Given the description of an element on the screen output the (x, y) to click on. 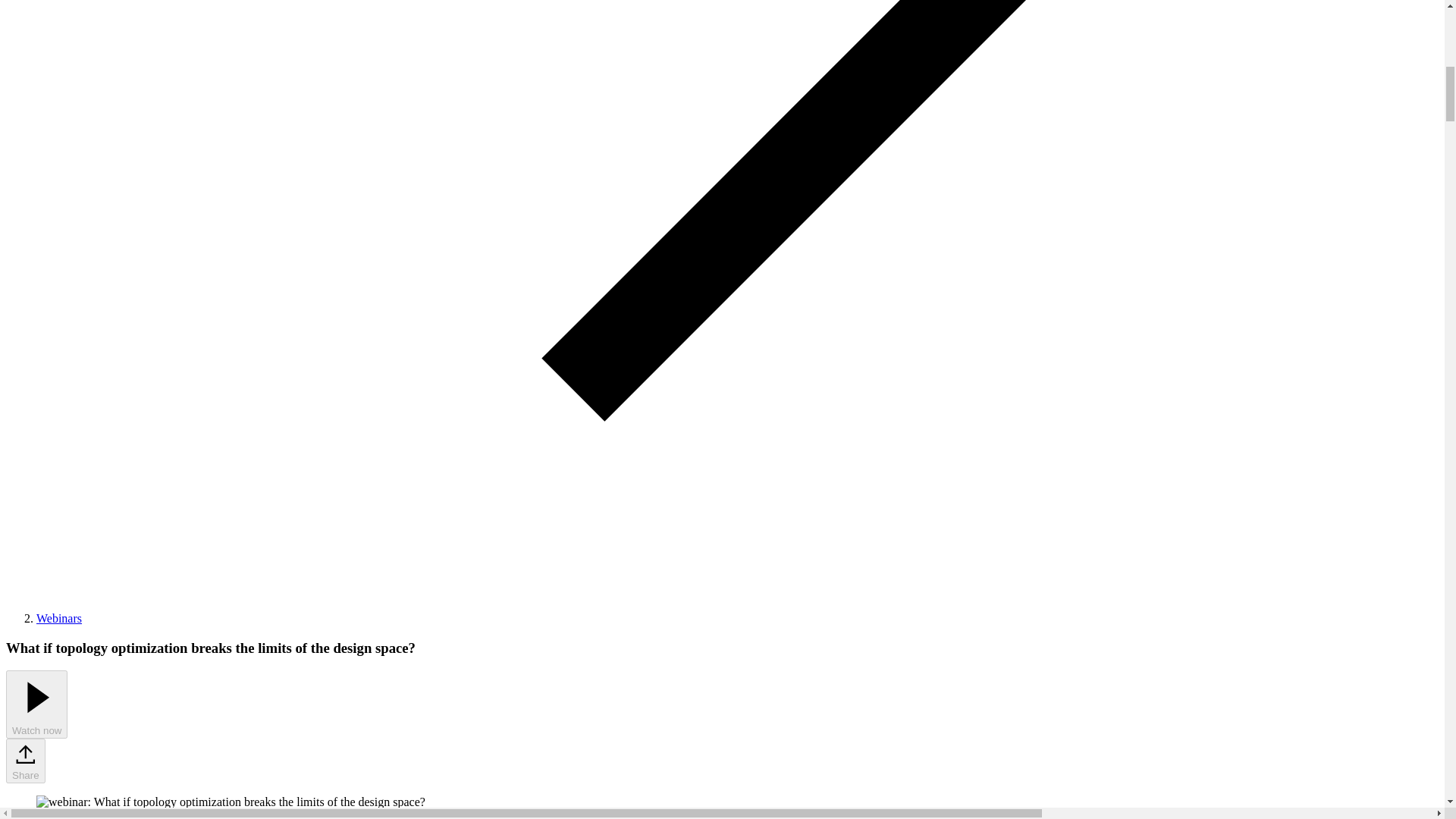
Share (25, 760)
Webinars (58, 617)
Watch now (35, 703)
